Given the description of an element on the screen output the (x, y) to click on. 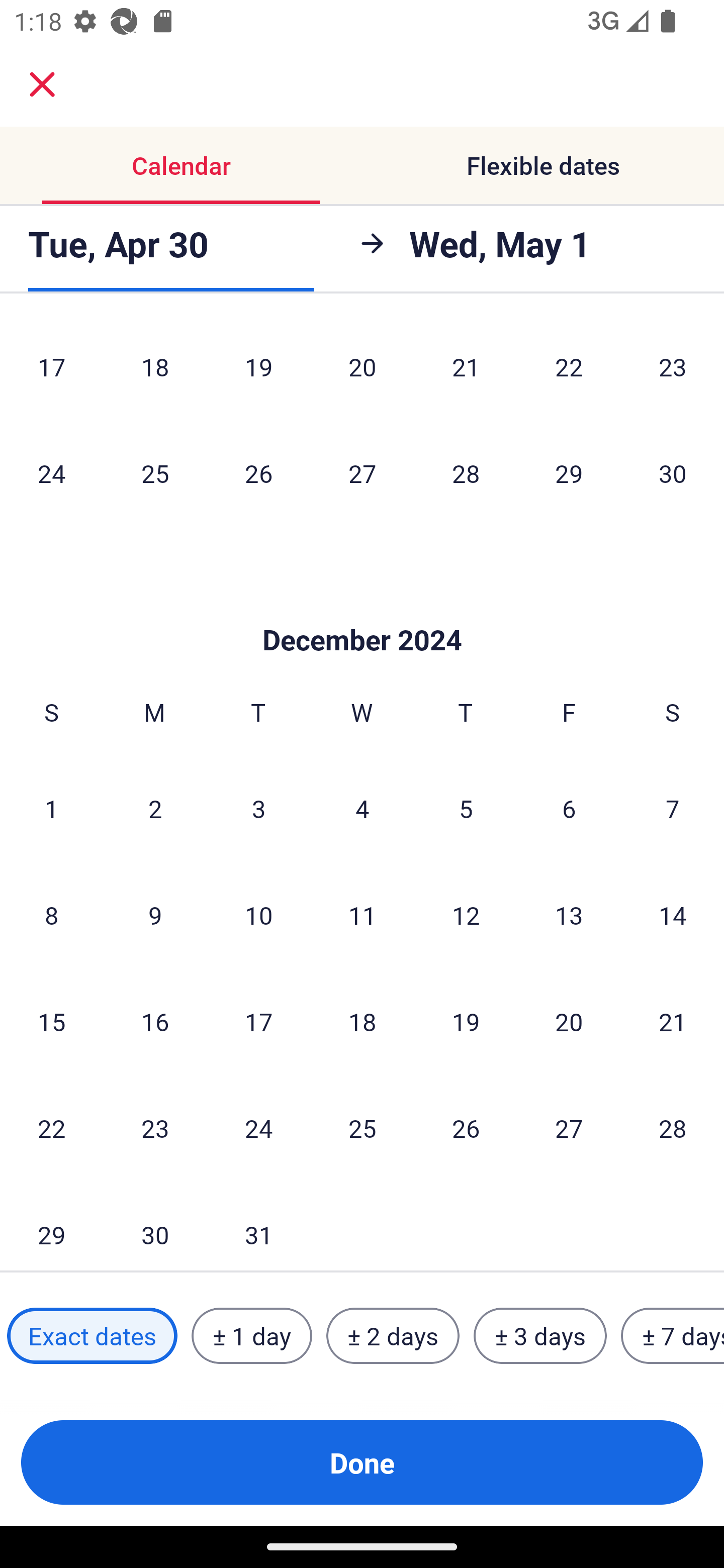
close. (42, 84)
Flexible dates (542, 164)
17 Sunday, November 17, 2024 (51, 369)
18 Monday, November 18, 2024 (155, 369)
19 Tuesday, November 19, 2024 (258, 369)
20 Wednesday, November 20, 2024 (362, 369)
21 Thursday, November 21, 2024 (465, 369)
22 Friday, November 22, 2024 (569, 369)
23 Saturday, November 23, 2024 (672, 369)
24 Sunday, November 24, 2024 (51, 473)
25 Monday, November 25, 2024 (155, 473)
26 Tuesday, November 26, 2024 (258, 473)
27 Wednesday, November 27, 2024 (362, 473)
28 Thursday, November 28, 2024 (465, 473)
29 Friday, November 29, 2024 (569, 473)
30 Saturday, November 30, 2024 (672, 473)
Skip to Done (362, 609)
1 Sunday, December 1, 2024 (51, 808)
2 Monday, December 2, 2024 (155, 808)
3 Tuesday, December 3, 2024 (258, 808)
4 Wednesday, December 4, 2024 (362, 808)
5 Thursday, December 5, 2024 (465, 808)
6 Friday, December 6, 2024 (569, 808)
7 Saturday, December 7, 2024 (672, 808)
8 Sunday, December 8, 2024 (51, 914)
9 Monday, December 9, 2024 (155, 914)
10 Tuesday, December 10, 2024 (258, 914)
11 Wednesday, December 11, 2024 (362, 914)
12 Thursday, December 12, 2024 (465, 914)
13 Friday, December 13, 2024 (569, 914)
14 Saturday, December 14, 2024 (672, 914)
15 Sunday, December 15, 2024 (51, 1021)
16 Monday, December 16, 2024 (155, 1021)
17 Tuesday, December 17, 2024 (258, 1021)
18 Wednesday, December 18, 2024 (362, 1021)
19 Thursday, December 19, 2024 (465, 1021)
20 Friday, December 20, 2024 (569, 1021)
21 Saturday, December 21, 2024 (672, 1021)
22 Sunday, December 22, 2024 (51, 1128)
23 Monday, December 23, 2024 (155, 1128)
24 Tuesday, December 24, 2024 (258, 1128)
25 Wednesday, December 25, 2024 (362, 1128)
26 Thursday, December 26, 2024 (465, 1128)
27 Friday, December 27, 2024 (569, 1128)
28 Saturday, December 28, 2024 (672, 1128)
29 Sunday, December 29, 2024 (51, 1226)
30 Monday, December 30, 2024 (155, 1226)
31 Tuesday, December 31, 2024 (258, 1226)
Exact dates (92, 1335)
± 1 day (251, 1335)
± 2 days (392, 1335)
± 3 days (539, 1335)
± 7 days (672, 1335)
Done (361, 1462)
